Given the description of an element on the screen output the (x, y) to click on. 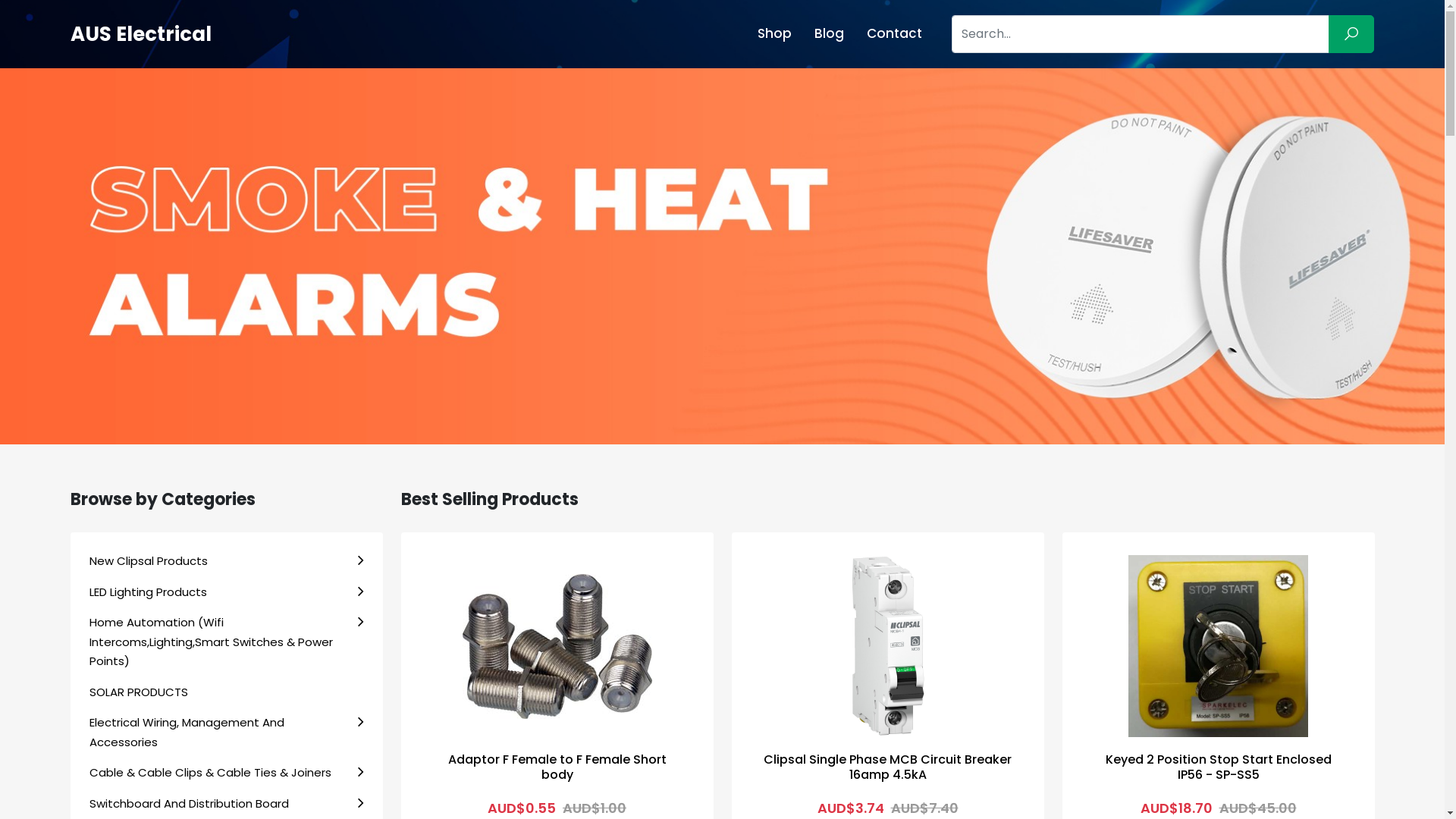
Adaptor F Female to F Female Short body Element type: hover (556, 646)
Adaptor F Female to F Female Short body Element type: text (556, 766)
Electrical Wiring, Management And Accessories Element type: text (226, 731)
Blog Element type: text (829, 33)
Clipsal Single Phase MCB Circuit Breaker 16amp 4.5kA Element type: text (887, 766)
Keyed 2 Position Stop Start Enclosed IP56 - SP-SS5 Element type: hover (1218, 646)
Cable & Cable Clips & Cable Ties & Joiners Element type: text (226, 772)
Keyed 2 Position Stop Start Enclosed IP56 - SP-SS5 Element type: text (1218, 766)
LED Lighting Products Element type: text (226, 592)
Shop Element type: text (774, 33)
SOLAR PRODUCTS Element type: text (226, 692)
Switchboard And Distribution Board Element type: text (226, 803)
Clipsal Single Phase MCB Circuit Breaker 16amp 4.5kA Element type: hover (887, 646)
Contact Element type: text (894, 33)
New Clipsal Products Element type: text (226, 561)
AUS Electrical Element type: text (139, 33)
